Given the description of an element on the screen output the (x, y) to click on. 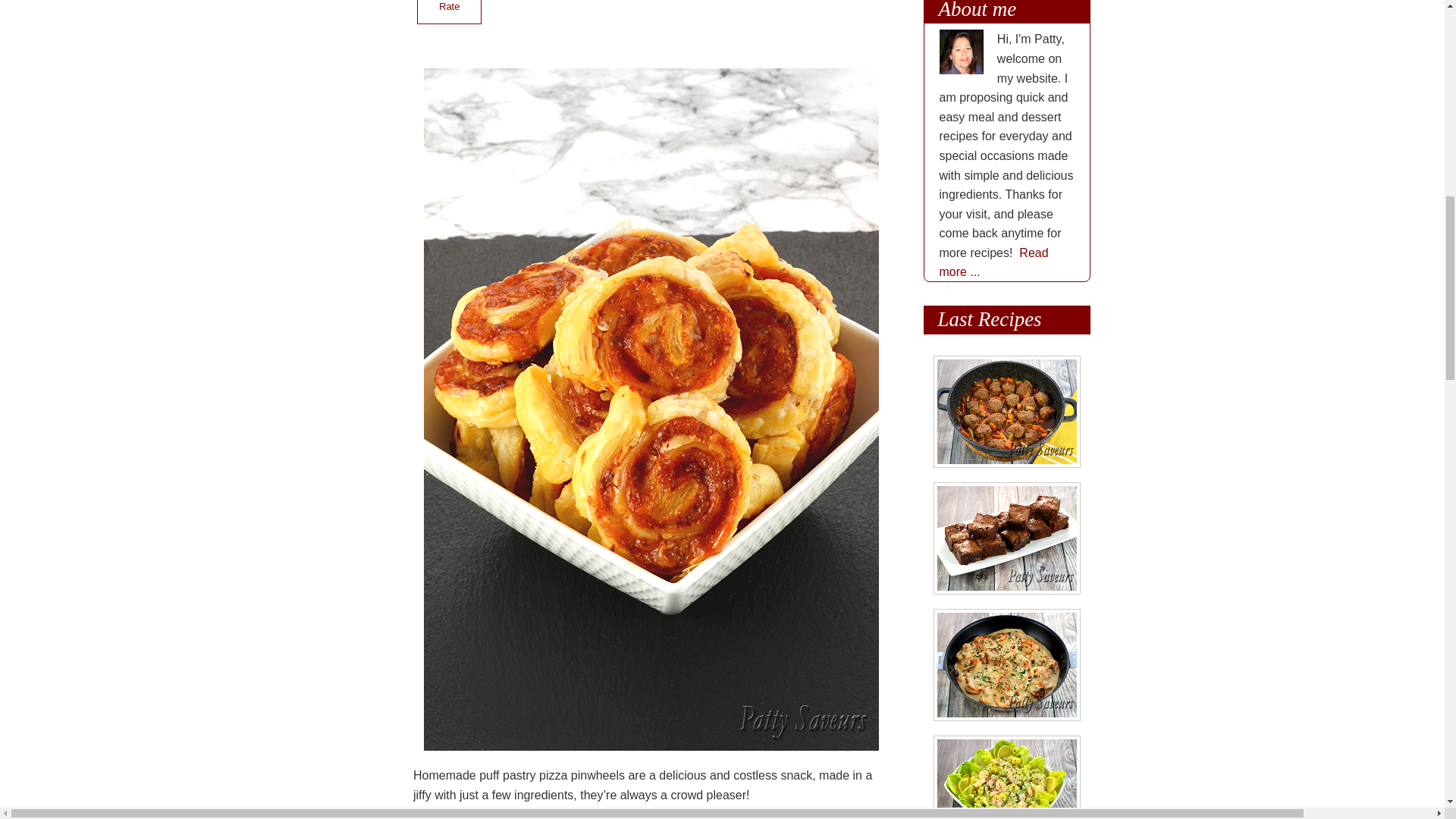
Beef Meatball Stew (1007, 411)
Garlic Shrimp Coconut Milk Sauce (1007, 664)
Rate (448, 12)
Shrimp and Potato Salad (1007, 777)
Rate (448, 12)
Patty (961, 51)
Fudgy Cherry Brownies (1007, 538)
